Given the description of an element on the screen output the (x, y) to click on. 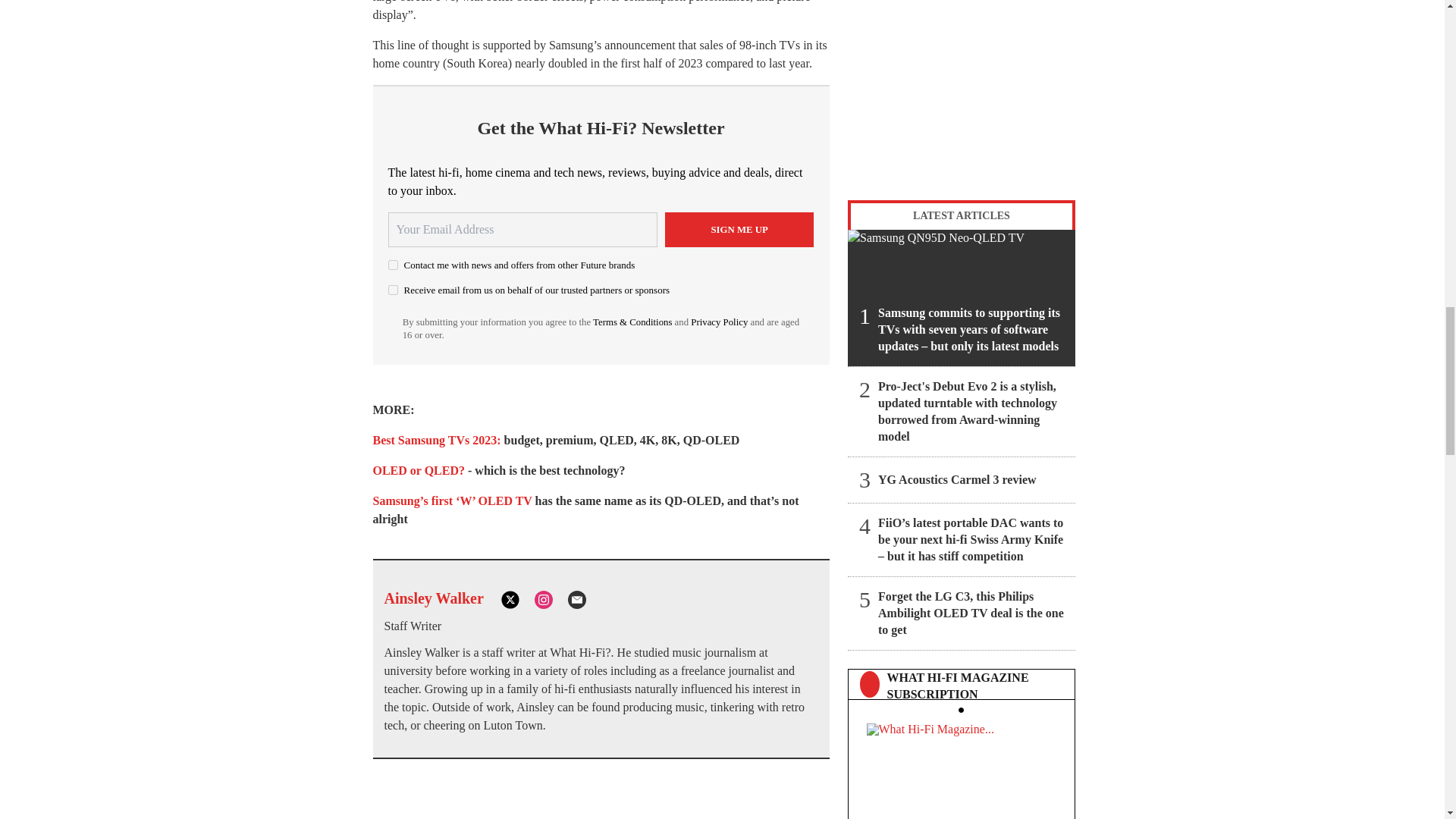
on (392, 289)
Sign me up (739, 229)
on (392, 265)
What Hi-Fi Magazine... (960, 766)
